Given the description of an element on the screen output the (x, y) to click on. 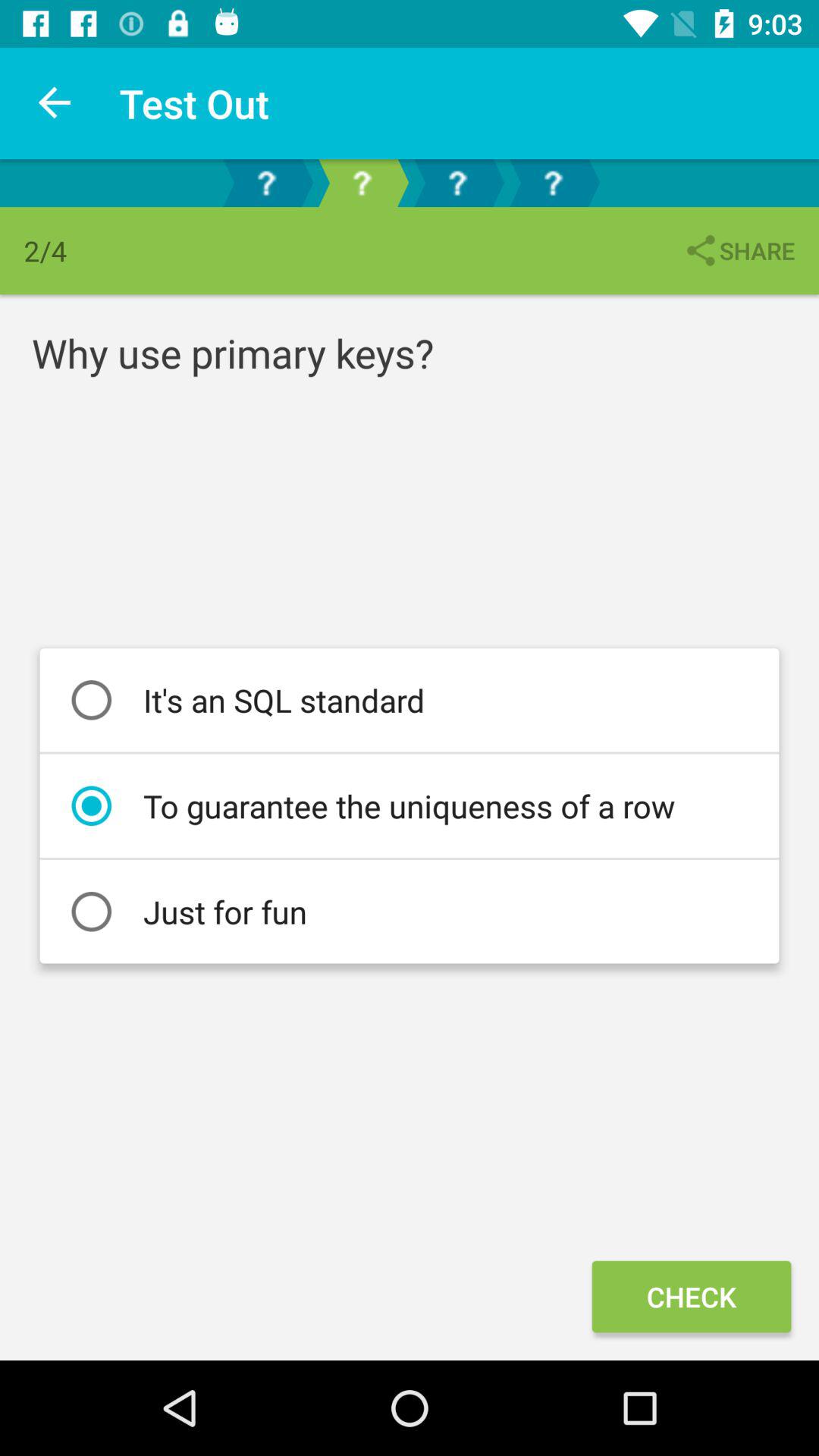
help s feedback (265, 183)
